Given the description of an element on the screen output the (x, y) to click on. 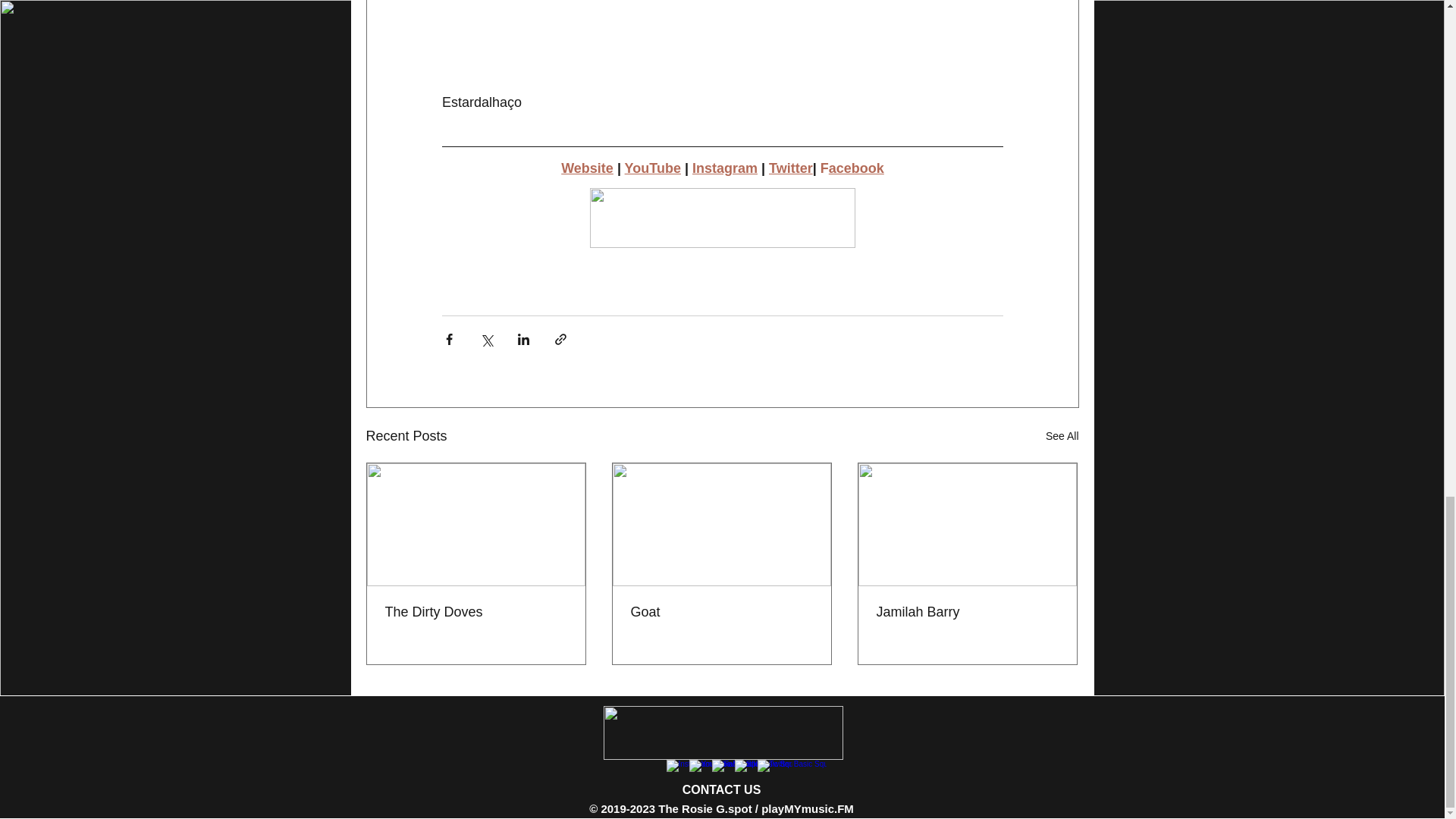
Website (586, 168)
YouTube (651, 168)
Twitter (790, 168)
acebook (855, 168)
Instagram (724, 168)
